Given the description of an element on the screen output the (x, y) to click on. 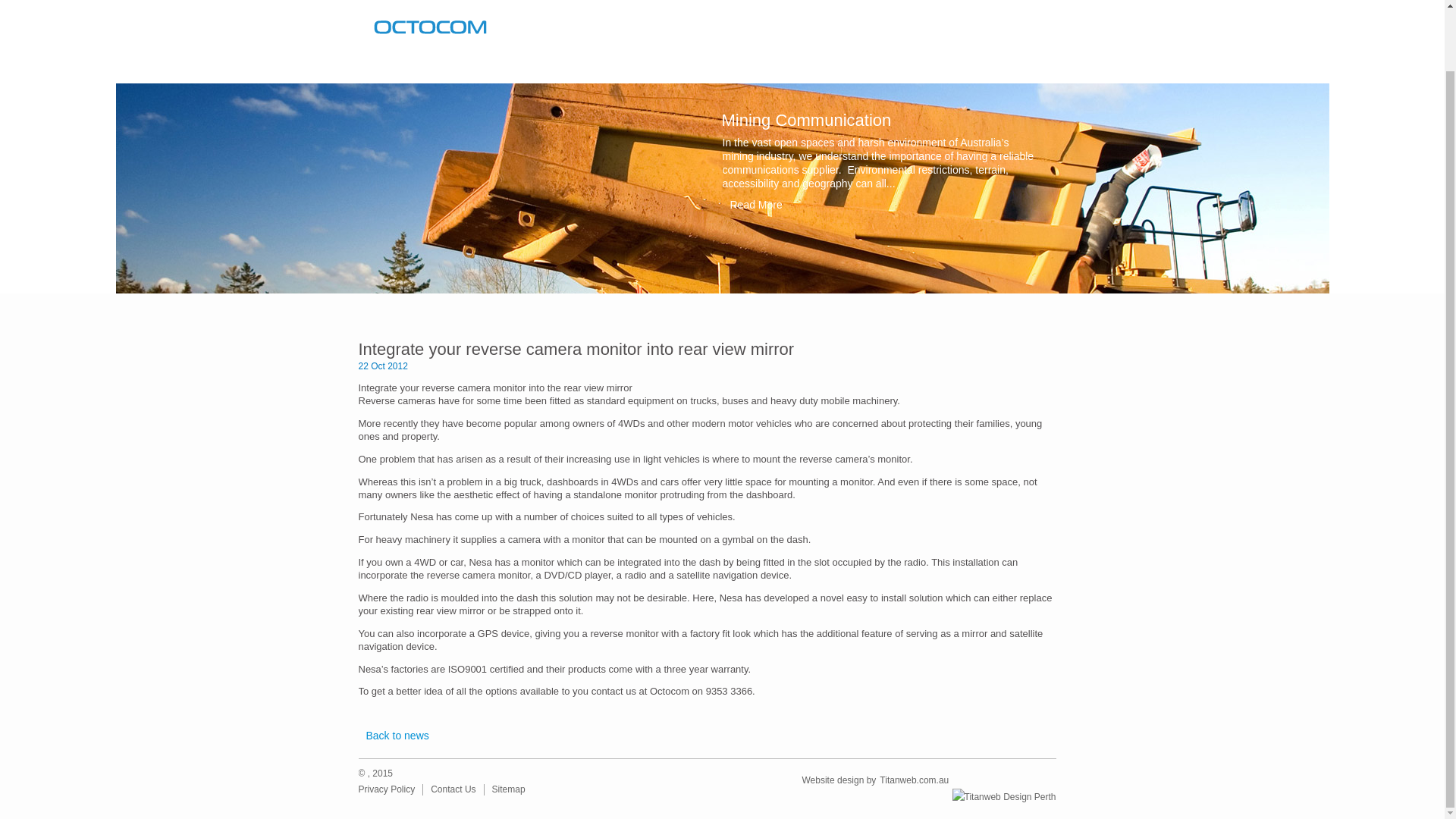
Read More (879, 204)
GALLERY (775, 67)
SERVICES (599, 67)
Titanweb Design Perth  (915, 778)
Sitemap (508, 788)
Contact Us (453, 788)
Back to news (393, 735)
TESTIMONIALS (884, 67)
NEWS (688, 67)
HOME (403, 67)
